Given the description of an element on the screen output the (x, y) to click on. 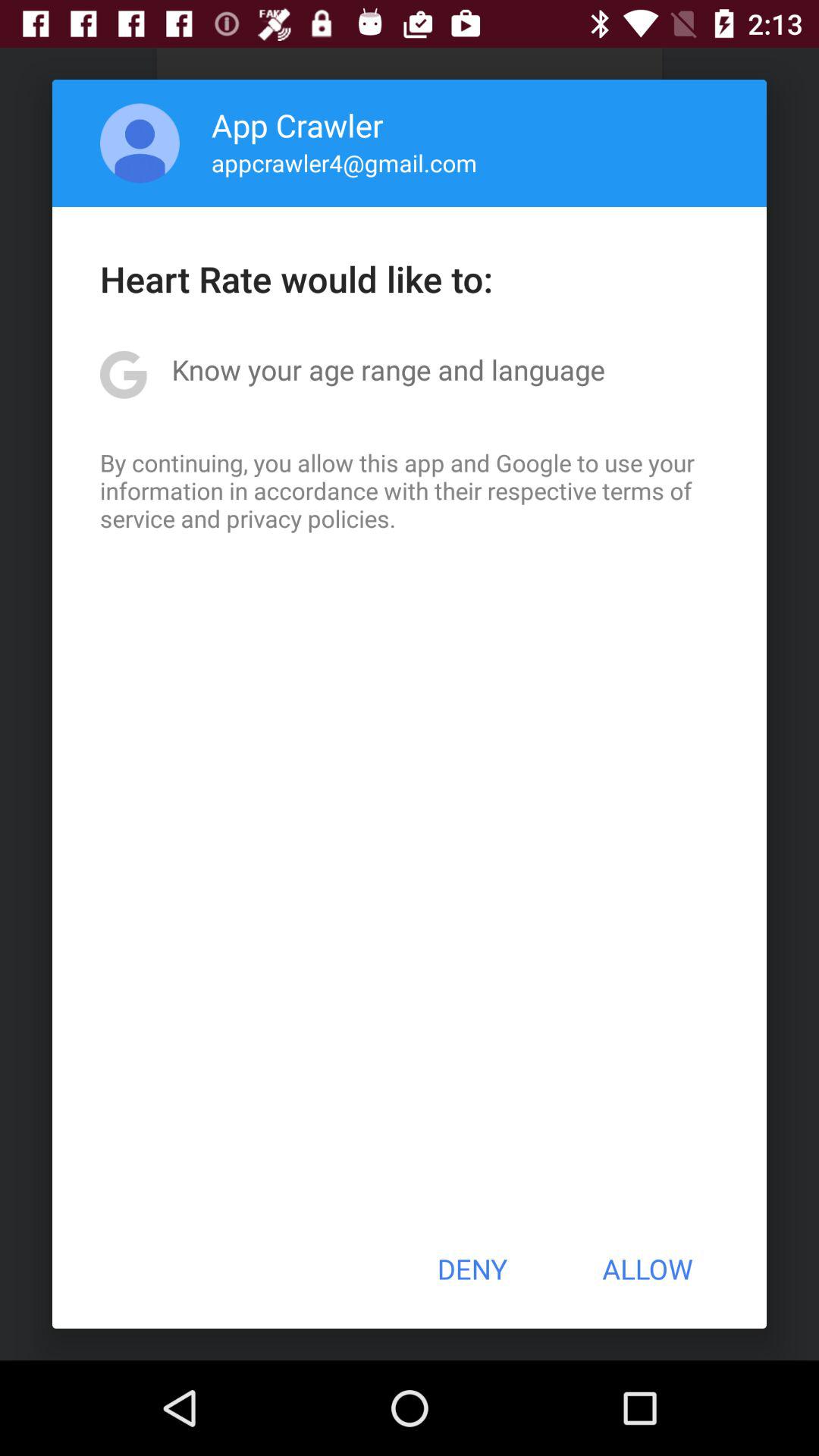
turn on app crawler item (297, 124)
